Given the description of an element on the screen output the (x, y) to click on. 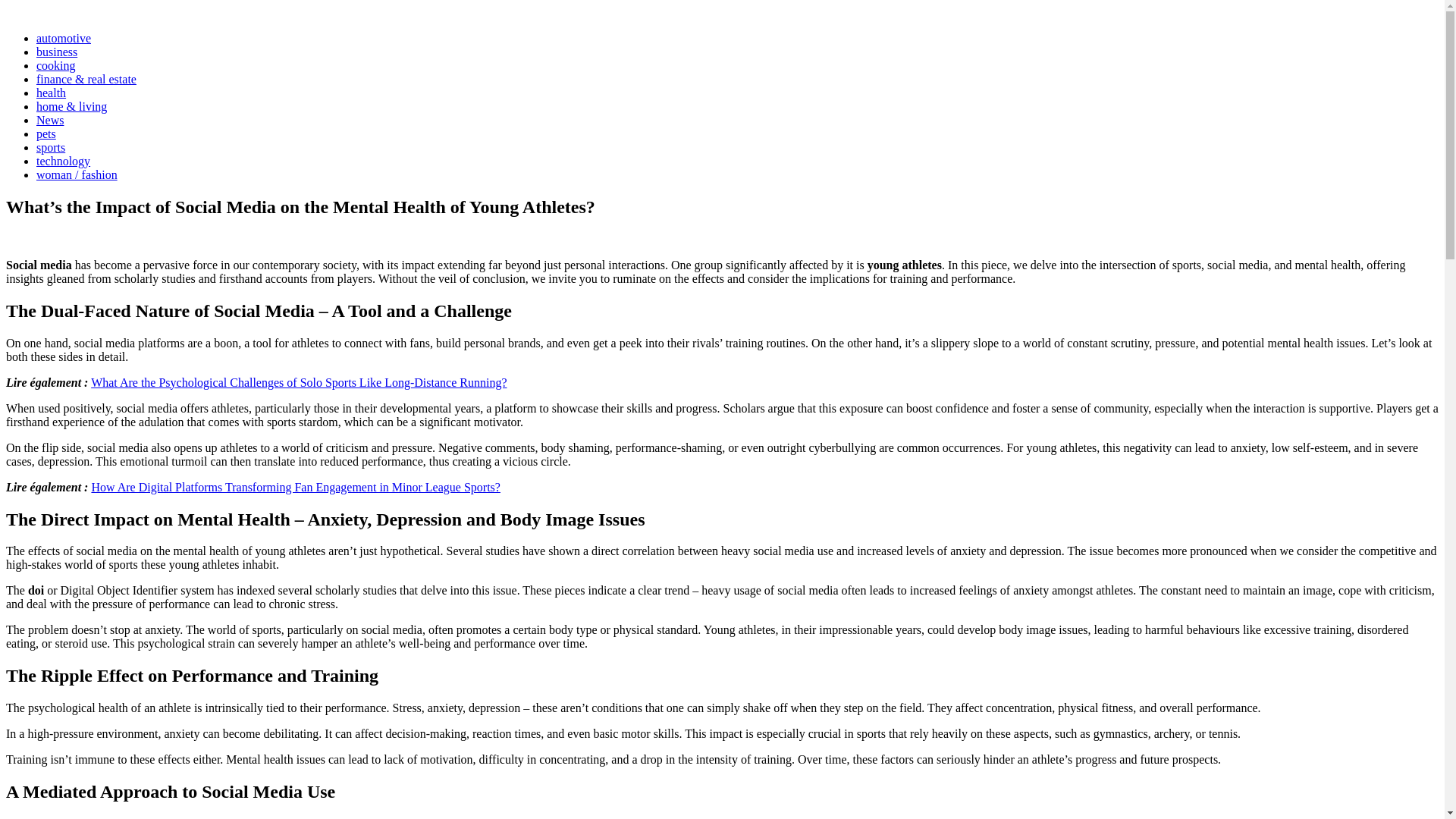
technology (63, 160)
News (50, 119)
automotive (63, 38)
business (56, 51)
health (50, 92)
sports (50, 146)
cooking (55, 65)
pets (46, 133)
